Given the description of an element on the screen output the (x, y) to click on. 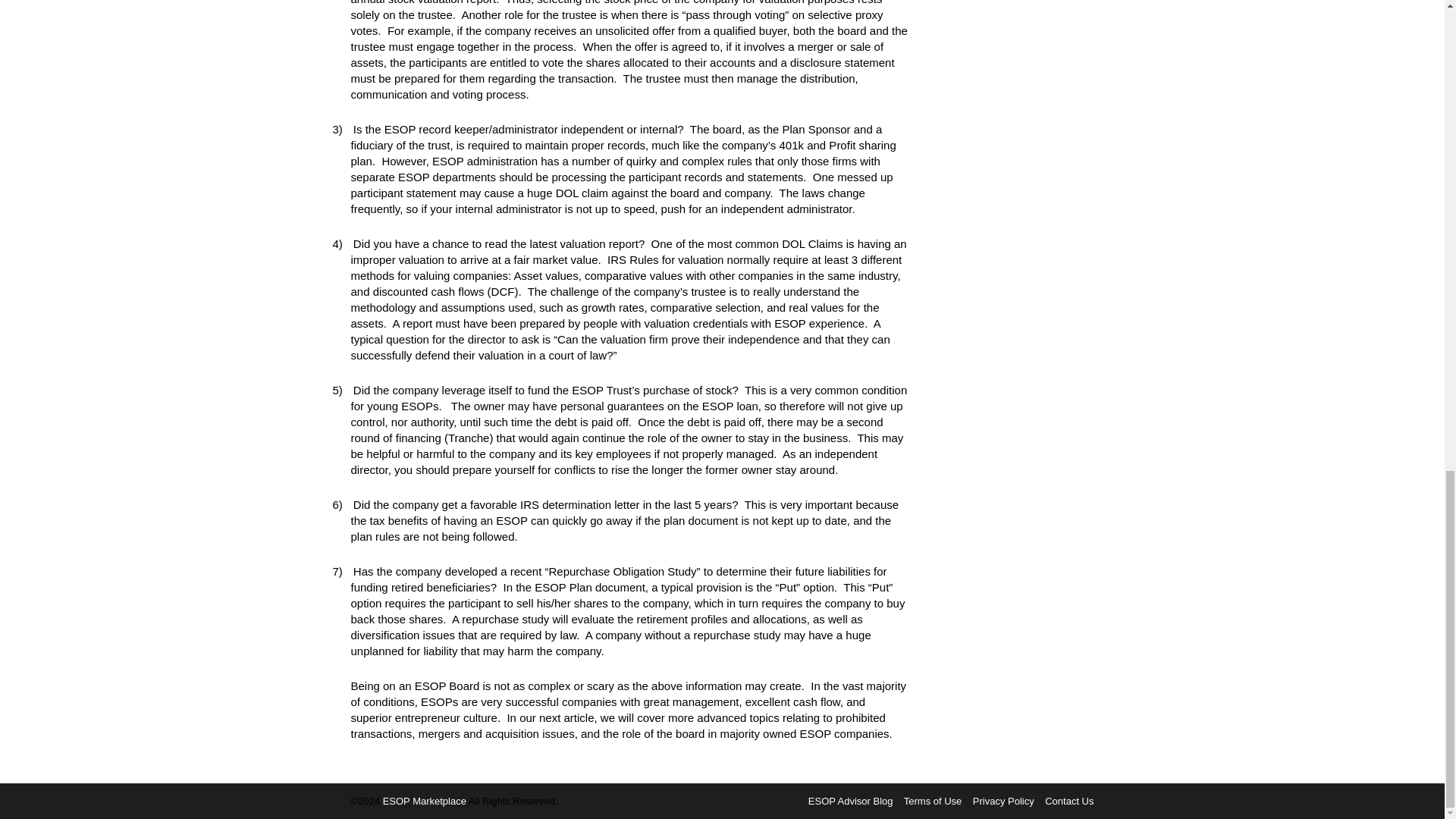
Privacy Policy (1002, 800)
Terms of Use (933, 800)
Contact Us (1069, 800)
ESOP Advisor Blog (850, 800)
ESOP Marketplace (423, 800)
